Given the description of an element on the screen output the (x, y) to click on. 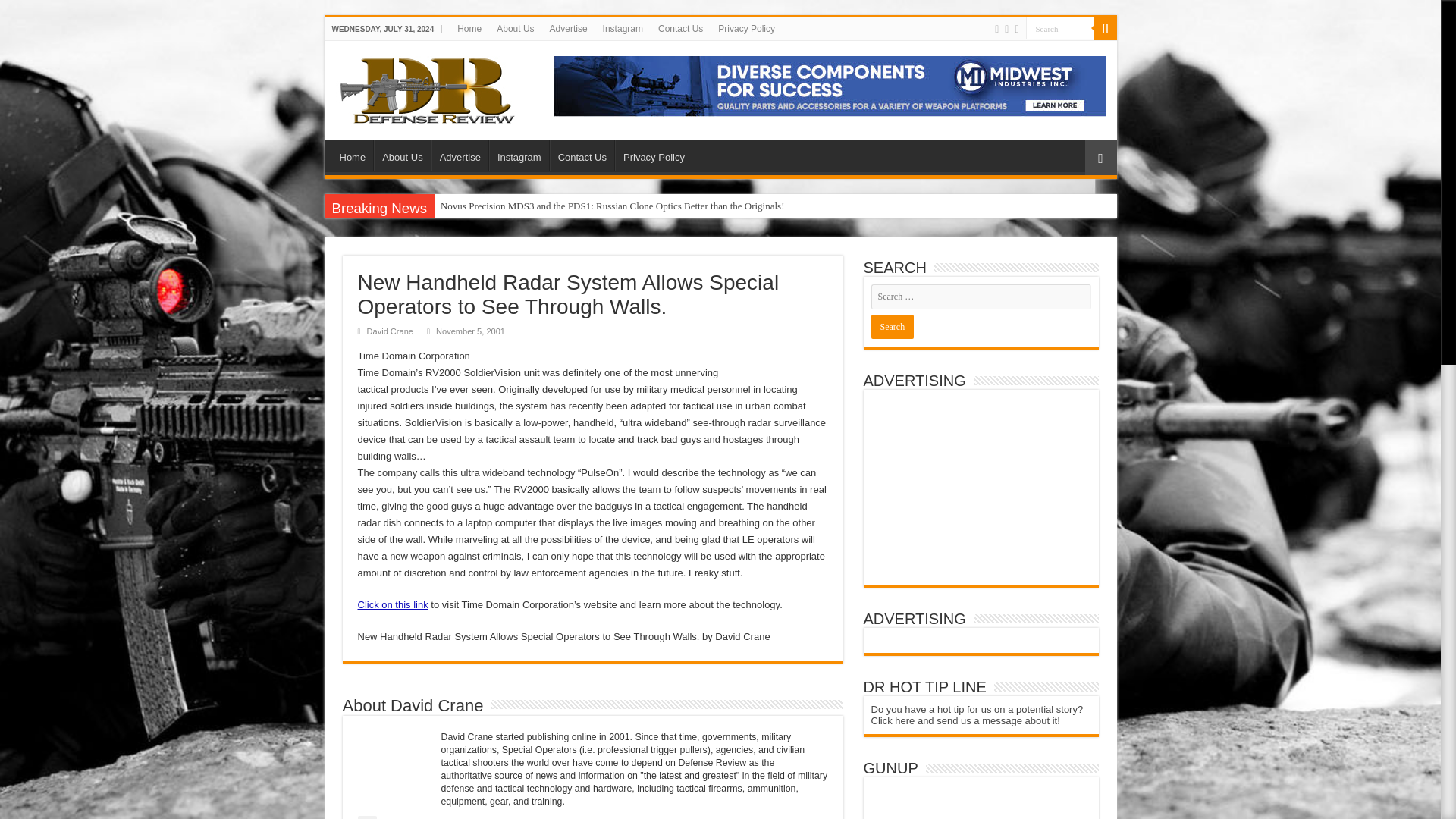
Search (892, 326)
Advertise (458, 155)
Advertise (568, 28)
Click on this link (393, 604)
Contact Us (582, 155)
Contact Us (680, 28)
About Us (515, 28)
About Us (401, 155)
David Crane (389, 330)
Search (1059, 28)
Privacy Policy (653, 155)
Search (892, 326)
Home (469, 28)
